Given the description of an element on the screen output the (x, y) to click on. 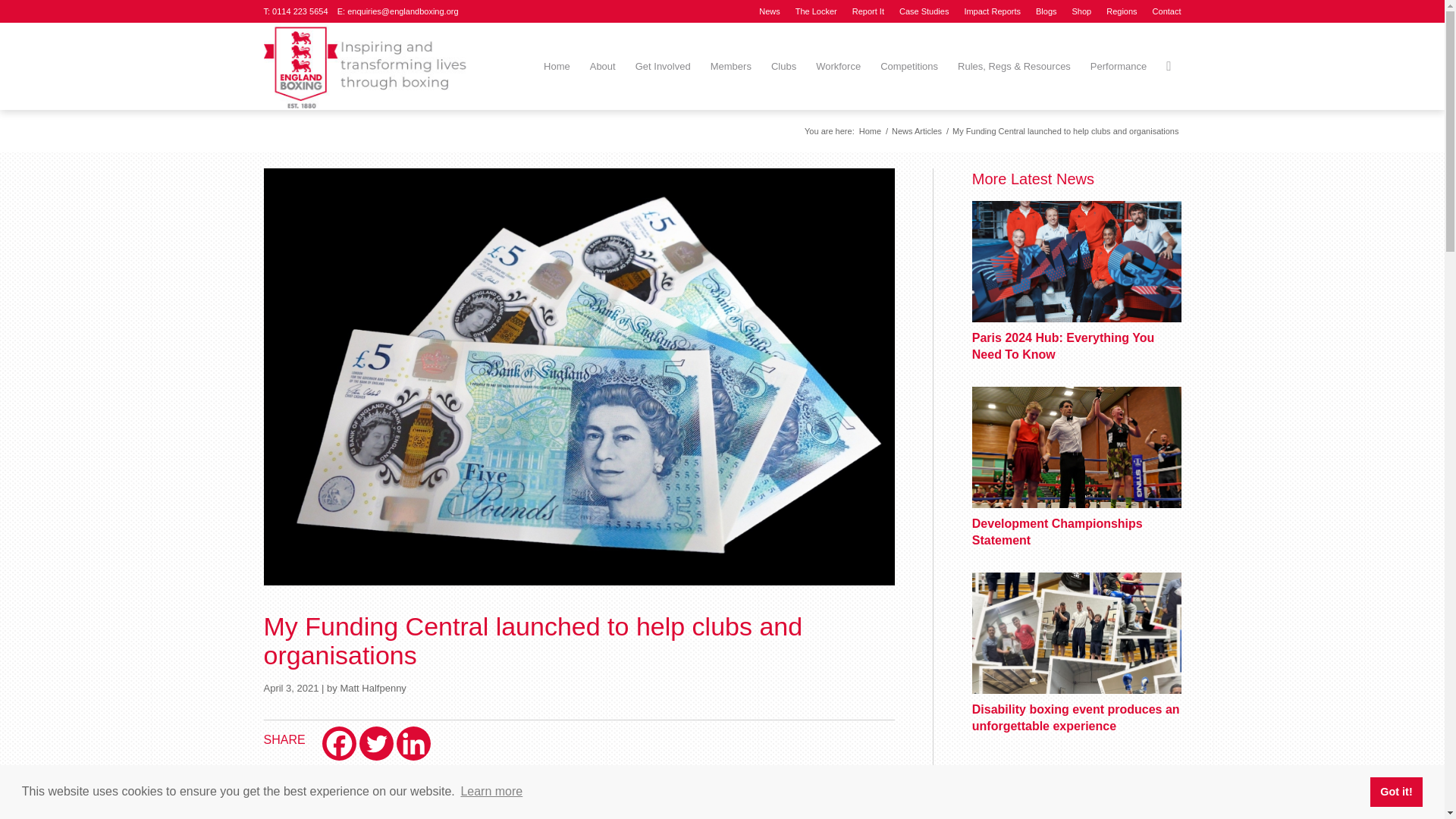
Report It (867, 11)
Impact Reports (991, 11)
Facebook (338, 743)
Blogs (1046, 11)
Learn more (491, 791)
Shop (1081, 11)
News Articles (916, 131)
Contact (1166, 11)
England Boxing (870, 131)
News (769, 11)
Twitter (376, 743)
The Locker (815, 11)
Case Studies (924, 11)
Got it! (1396, 791)
Regions (1121, 11)
